Given the description of an element on the screen output the (x, y) to click on. 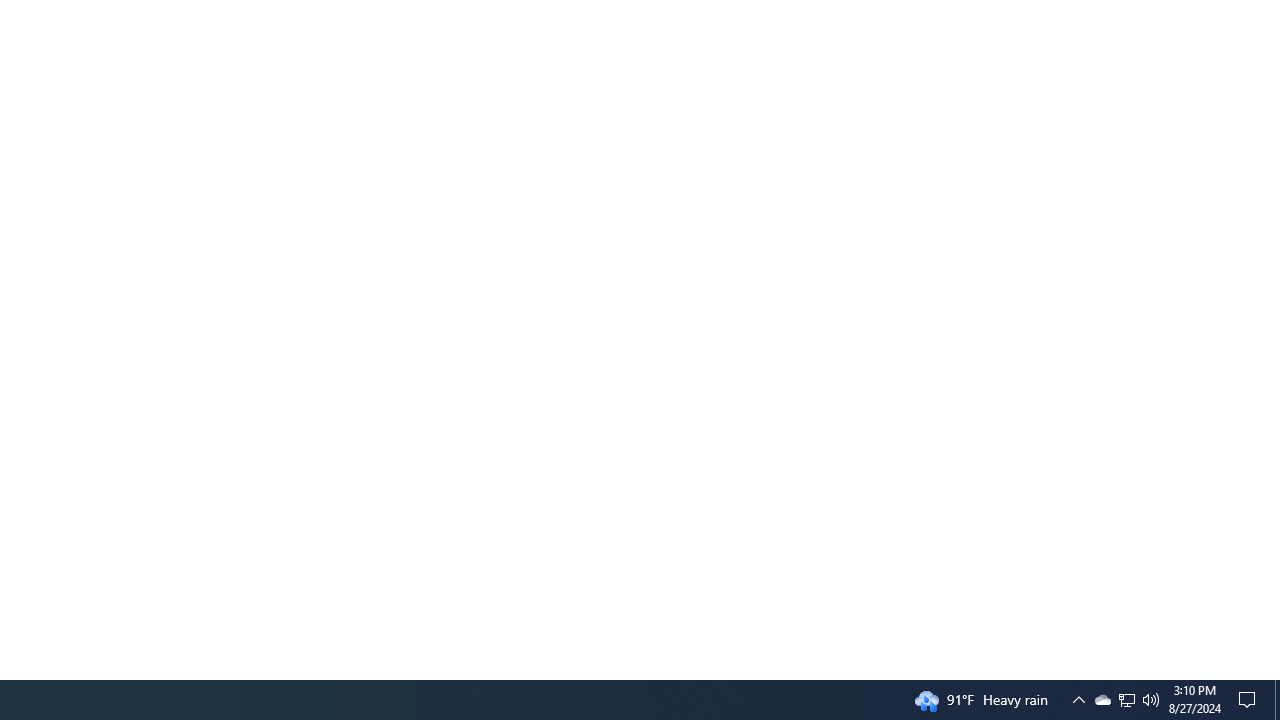
Action Center, No new notifications (1250, 699)
Show desktop (1277, 699)
Q2790: 100% (1151, 699)
Notification Chevron (1126, 699)
User Promoted Notification Area (1078, 699)
